Given the description of an element on the screen output the (x, y) to click on. 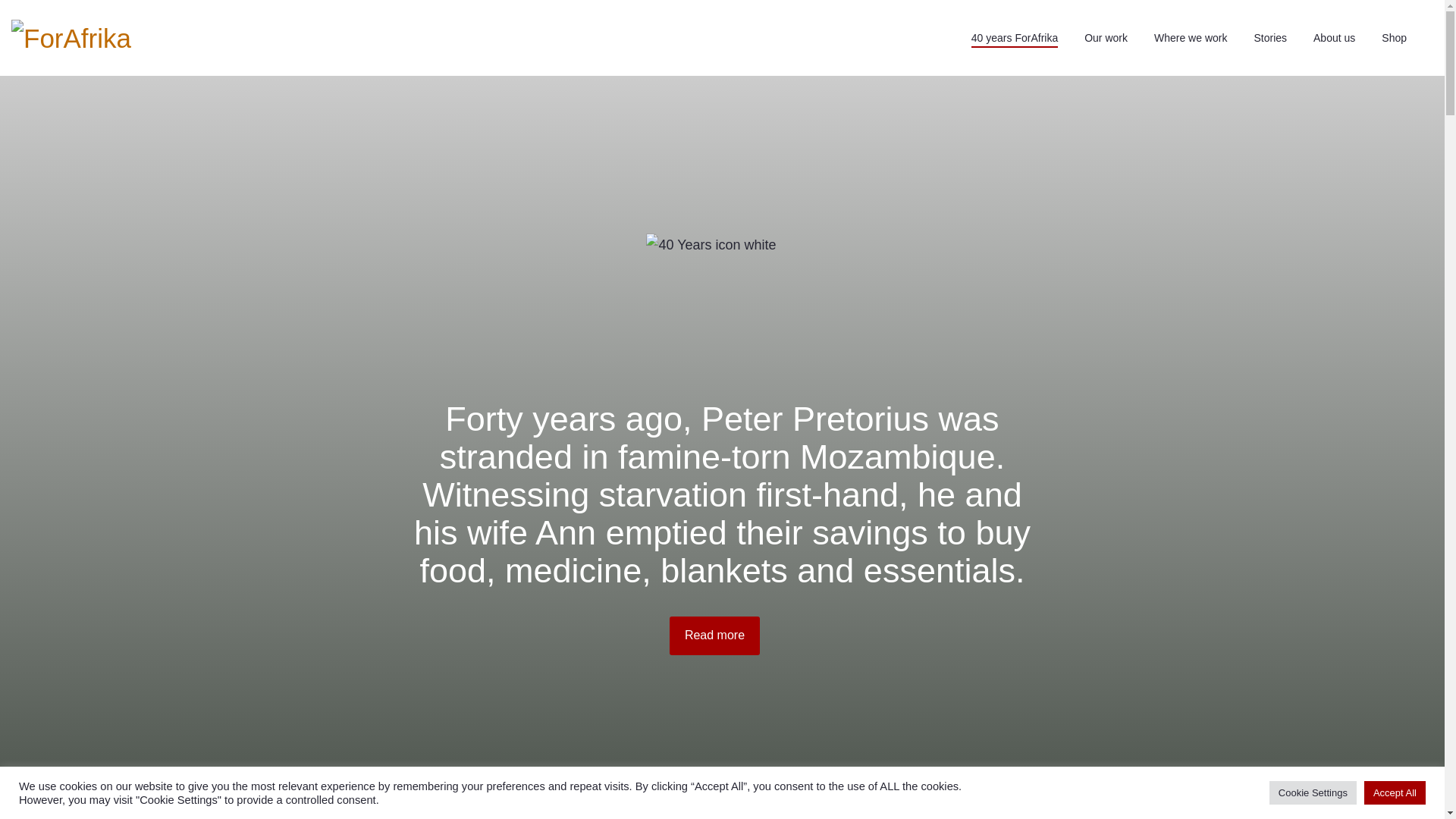
Shop (1394, 37)
40yearsforafrika (714, 635)
About us (1334, 37)
Our work (1105, 37)
Stories (1269, 37)
40 years ForAfrika (1013, 37)
Where we work (1190, 37)
Read more (714, 635)
We are the largest African humanitarian organisation (71, 38)
40 Years icon white (721, 308)
